Given the description of an element on the screen output the (x, y) to click on. 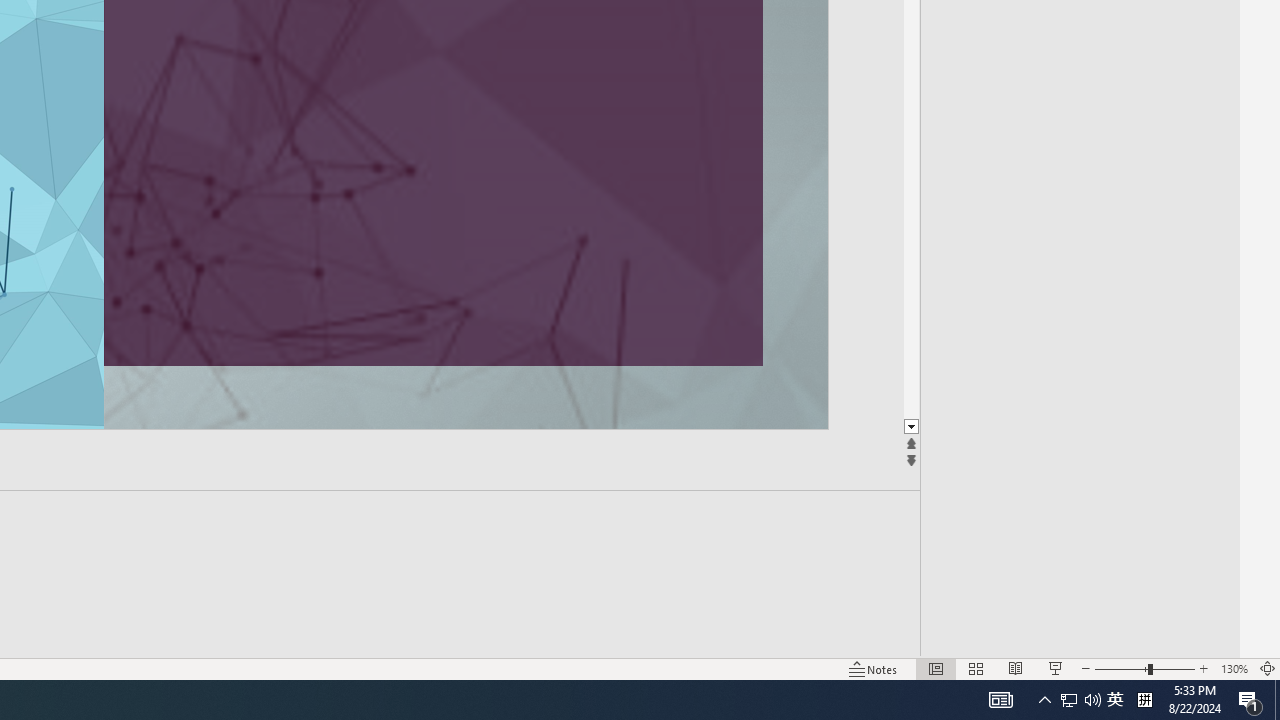
Zoom 130% (1234, 668)
